Given the description of an element on the screen output the (x, y) to click on. 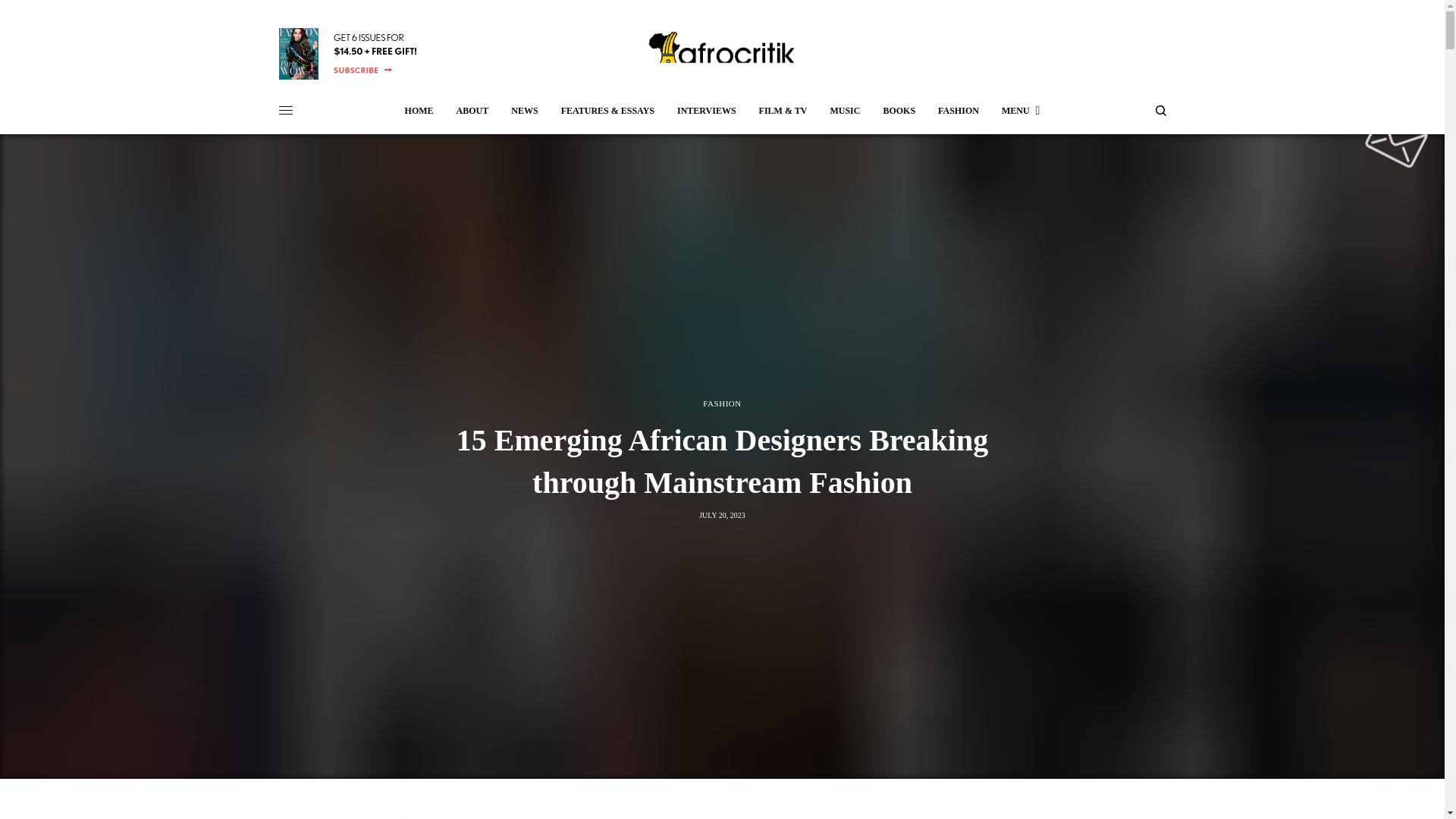
FASHION (957, 110)
Afrocritik (721, 53)
INTERVIEWS (706, 110)
FASHION (722, 403)
